Given the description of an element on the screen output the (x, y) to click on. 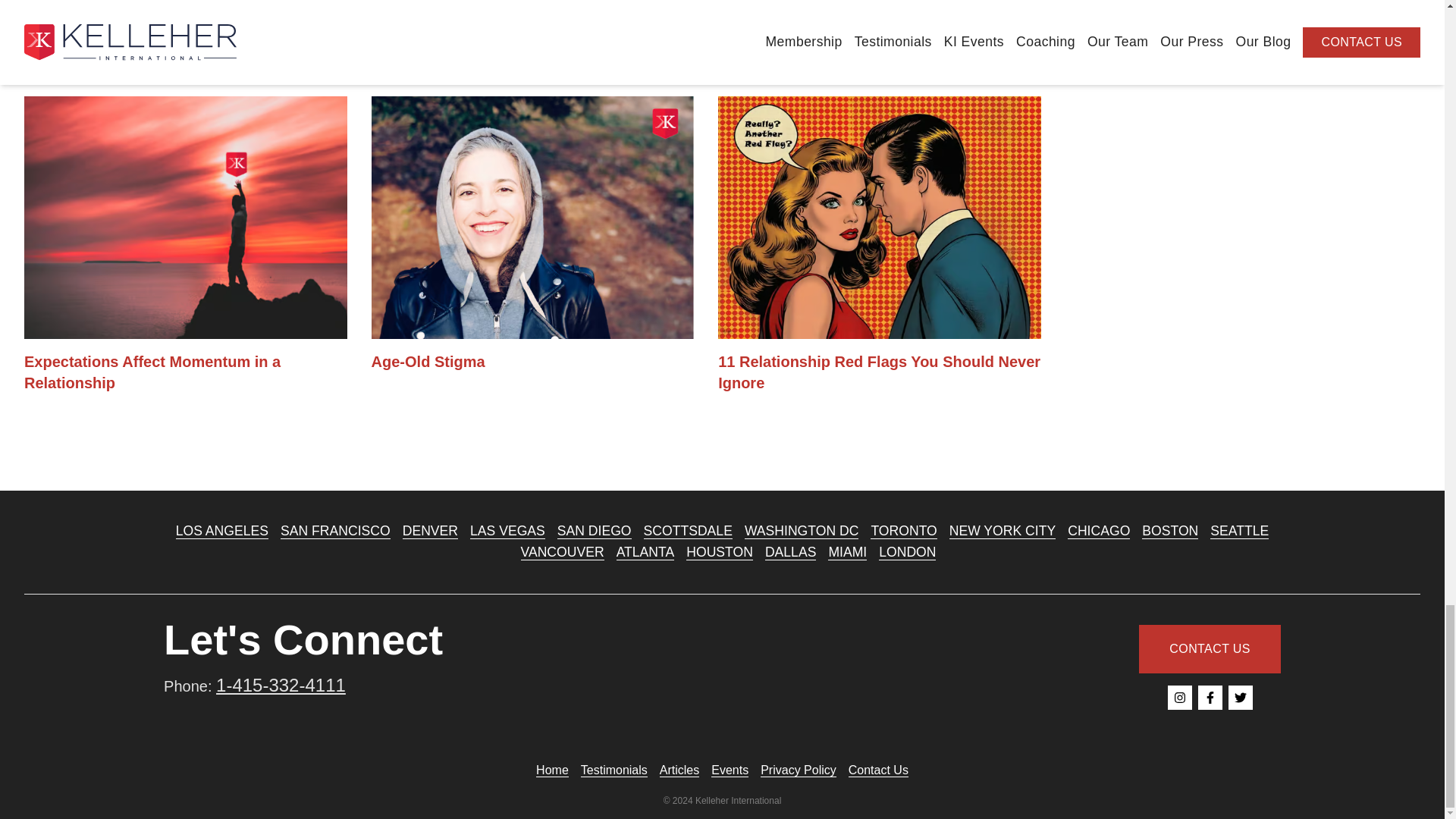
SEATTLE (1238, 530)
NEW YORK CITY (1002, 530)
Share on Facebook (36, 20)
CHICAGO (1098, 530)
Share on Twitter (60, 20)
TORONTO (903, 530)
LAS VEGAS (507, 530)
WASHINGTON DC (801, 530)
Age-Old Stigma (532, 234)
LOS ANGELES (221, 530)
